Given the description of an element on the screen output the (x, y) to click on. 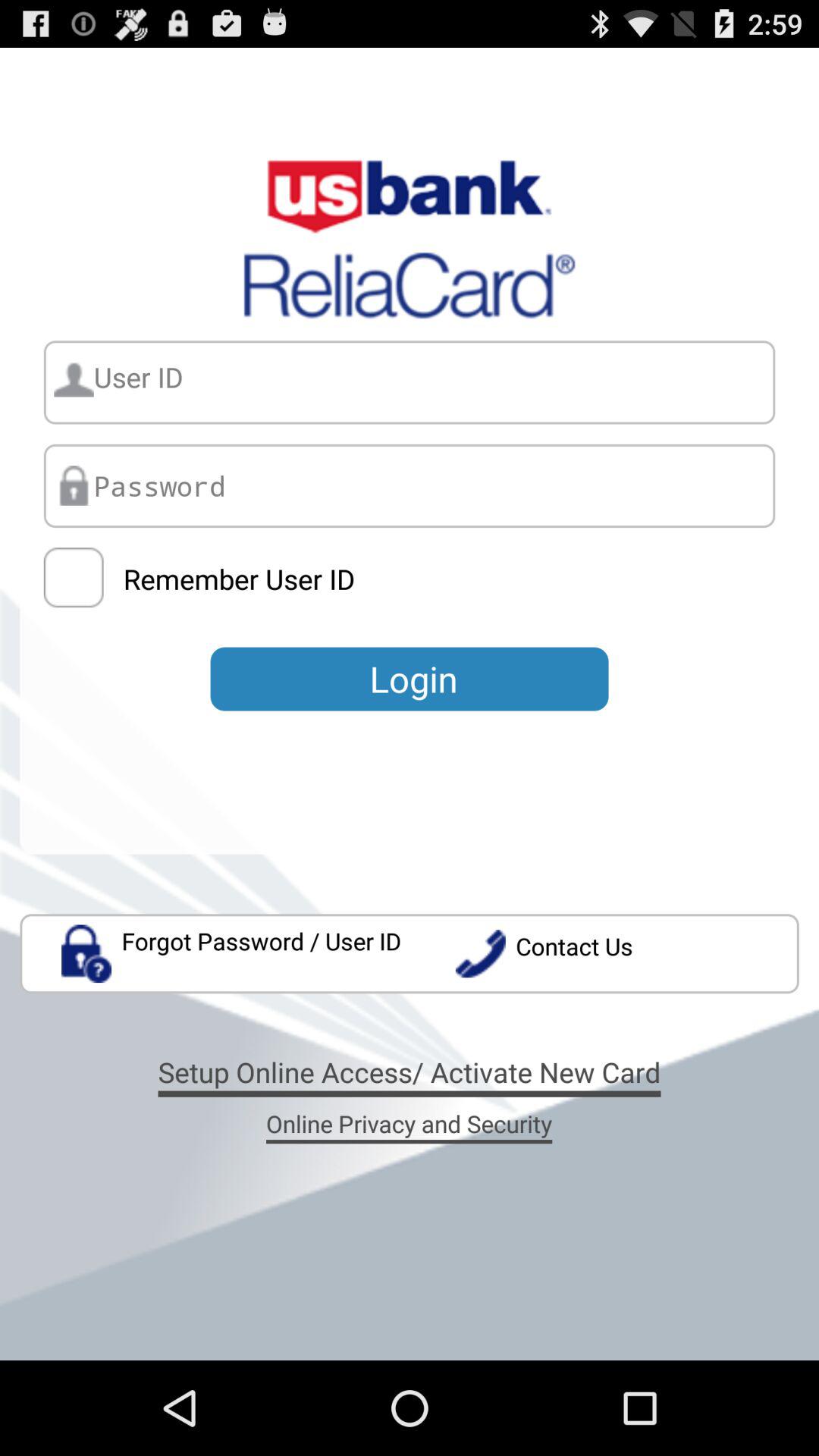
scroll until setup online access icon (409, 1071)
